Given the description of an element on the screen output the (x, y) to click on. 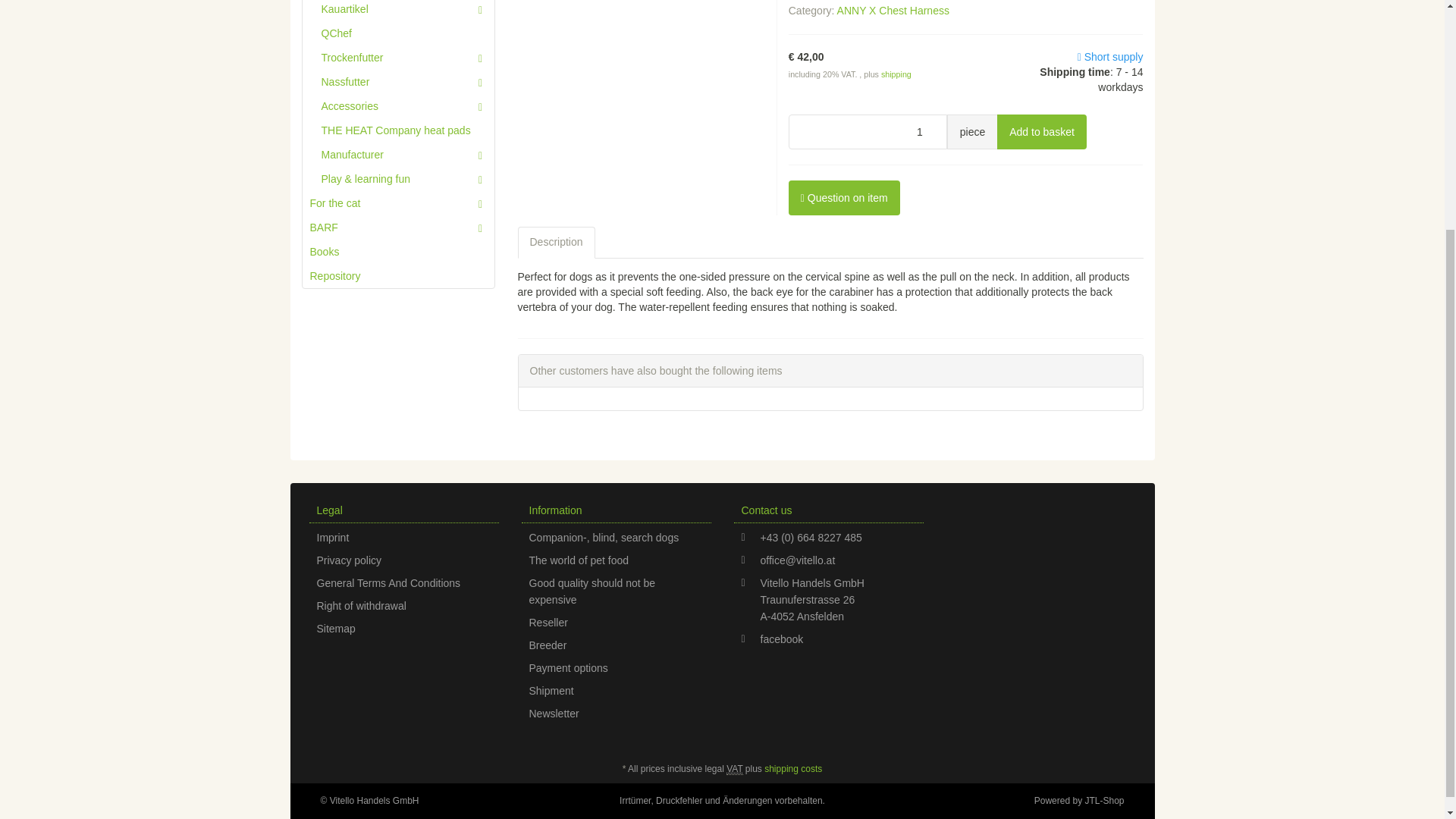
1 (868, 131)
